Given the description of an element on the screen output the (x, y) to click on. 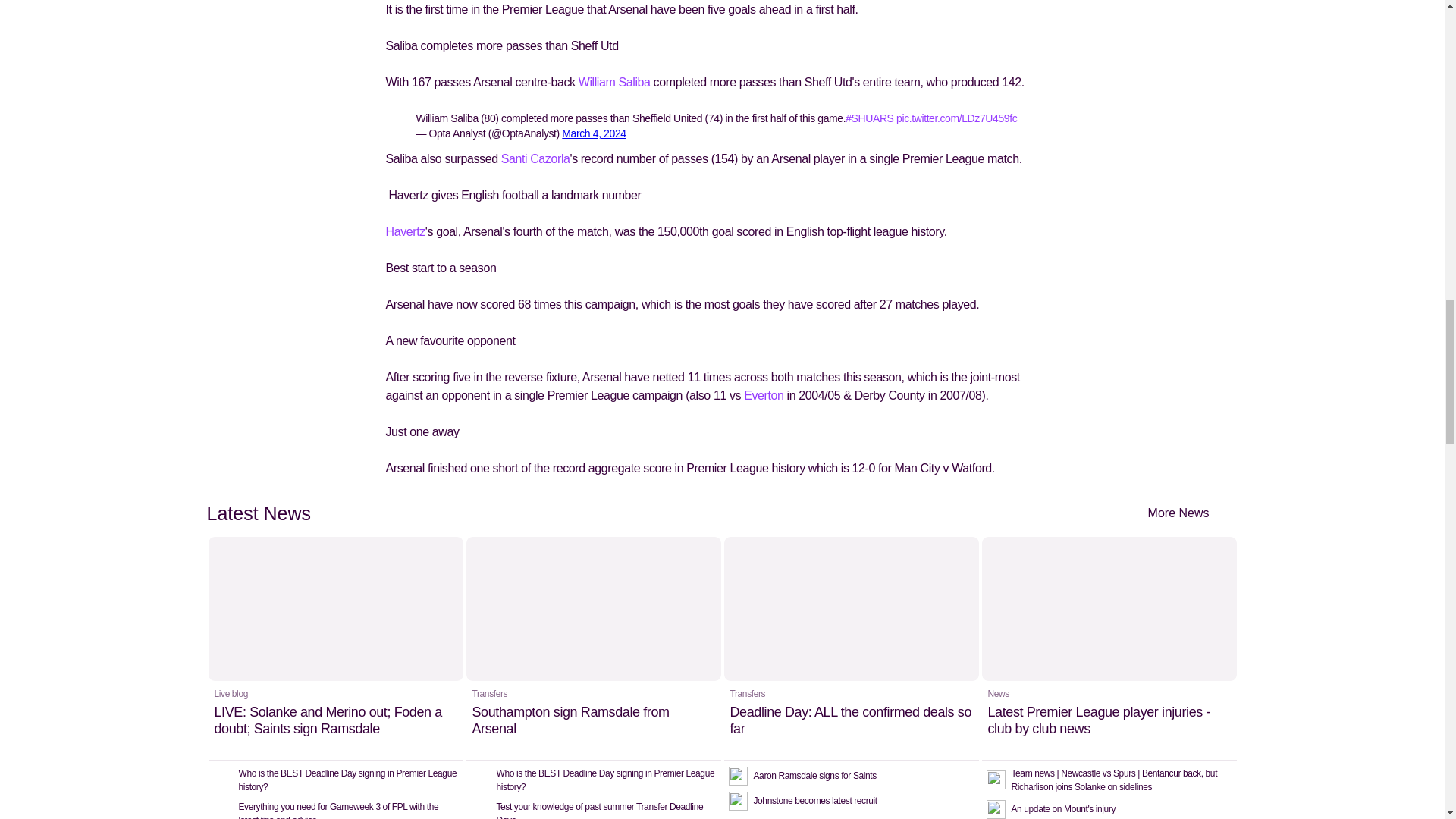
Latest Premier League player injuries - club by club news (1108, 648)
Southampton sign Ramsdale from Arsenal (592, 648)
Embedded Tweet (721, 123)
Deadline Day: ALL the confirmed deals so far (850, 648)
